Given the description of an element on the screen output the (x, y) to click on. 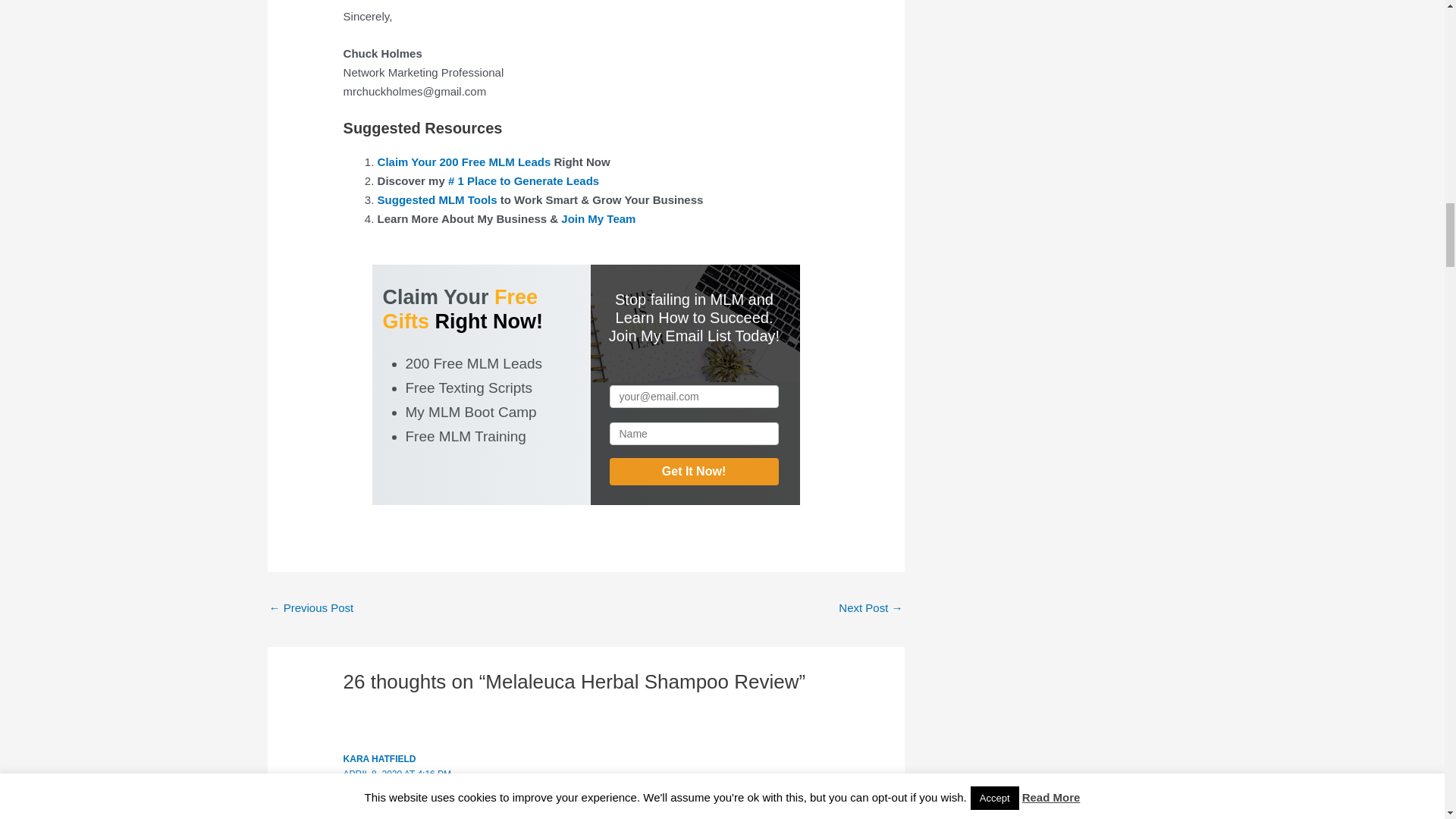
MLM Car Magnet Tips for Network Marketers (310, 609)
